Given the description of an element on the screen output the (x, y) to click on. 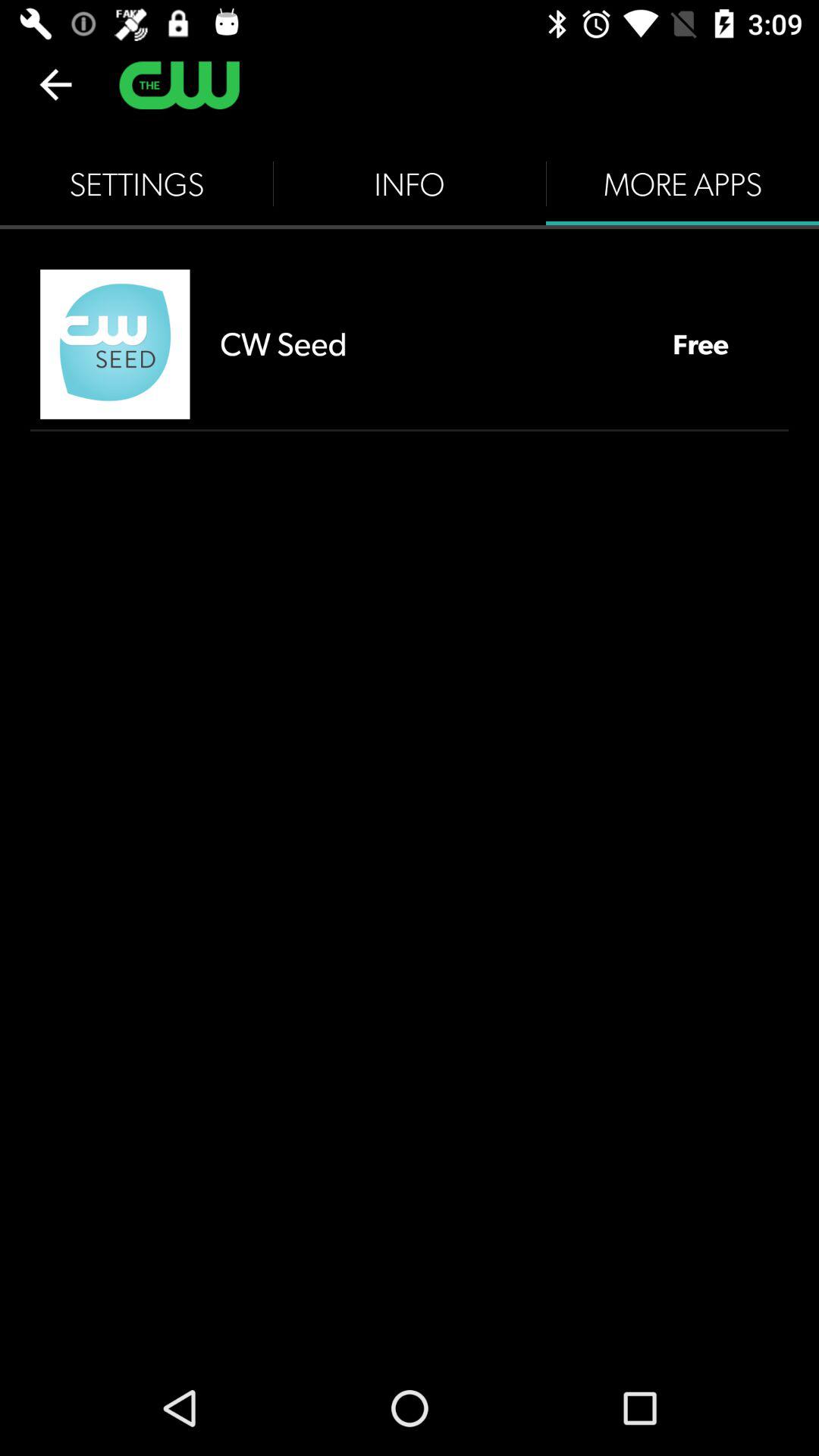
choose cw seed item (431, 343)
